Given the description of an element on the screen output the (x, y) to click on. 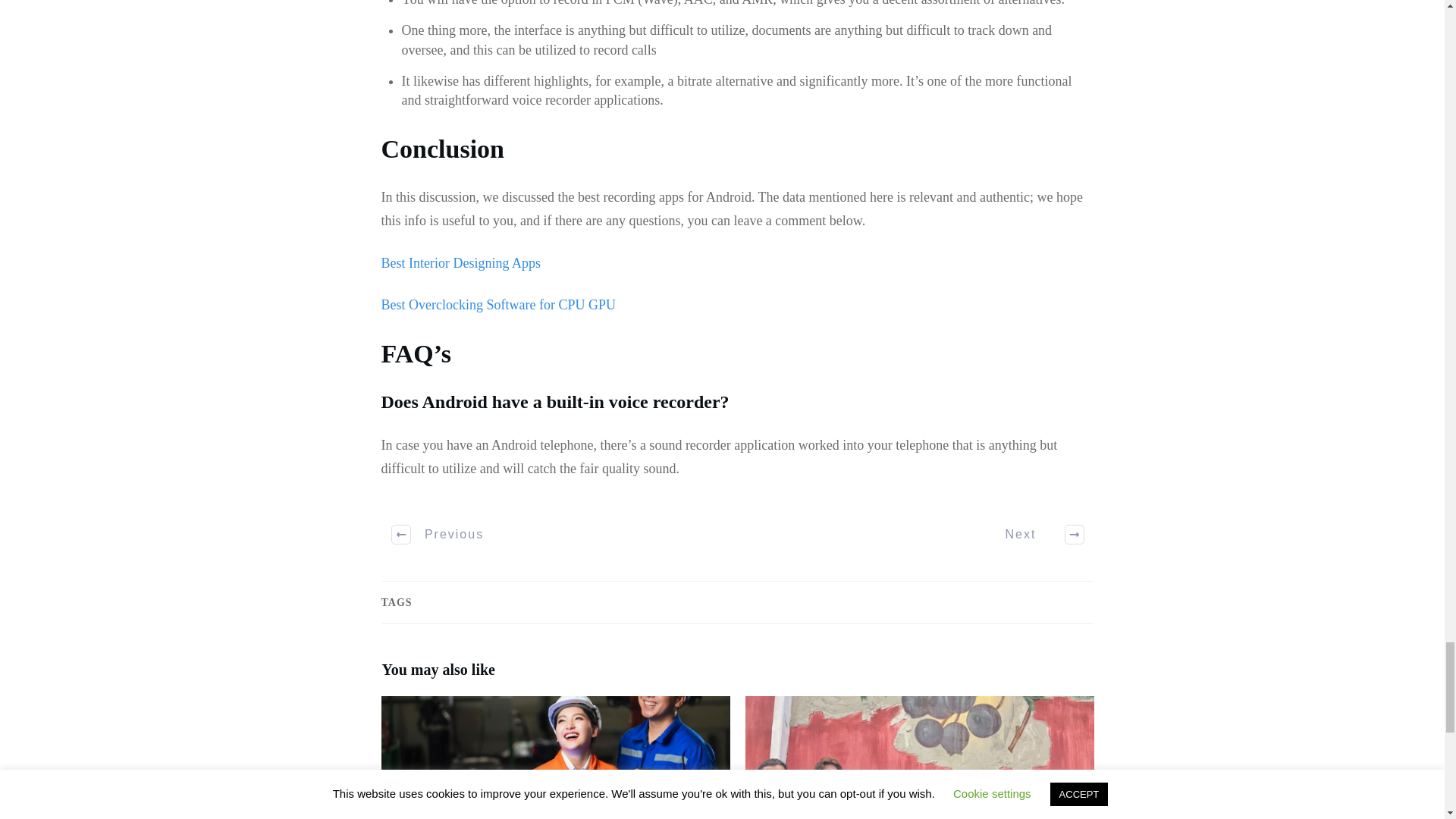
Previous (438, 534)
Best Overclocking Software for CPU GPU (497, 304)
Best Interior Designing Apps (460, 263)
How Smart Manufacturing is Transforming the Industry (554, 757)
Next (1036, 534)
